Given the description of an element on the screen output the (x, y) to click on. 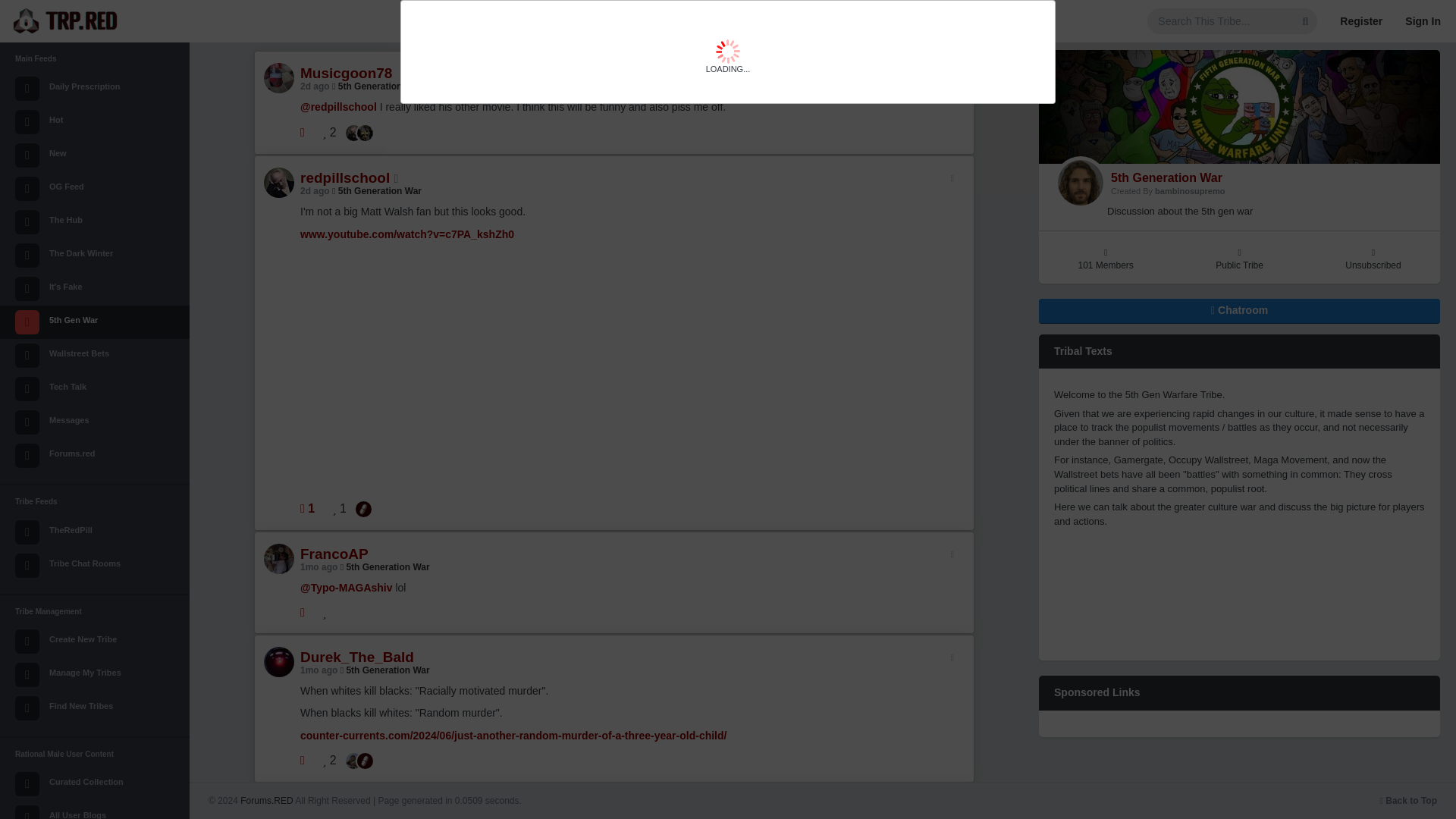
TheRedPike (359, 508)
Register (1360, 21)
Tribe Chat Rooms (94, 565)
Manage My Tribes (94, 674)
Typo-MAGAshiv (349, 759)
2d ago (314, 190)
OG Feed (94, 188)
Daily Prescription (94, 88)
TheRedPill (94, 531)
5th Generation War (376, 86)
redpillschool (349, 132)
New (94, 154)
Wallstreet Bets (94, 355)
Curated Collection (94, 783)
Musicgoon78 (345, 73)
